Given the description of an element on the screen output the (x, y) to click on. 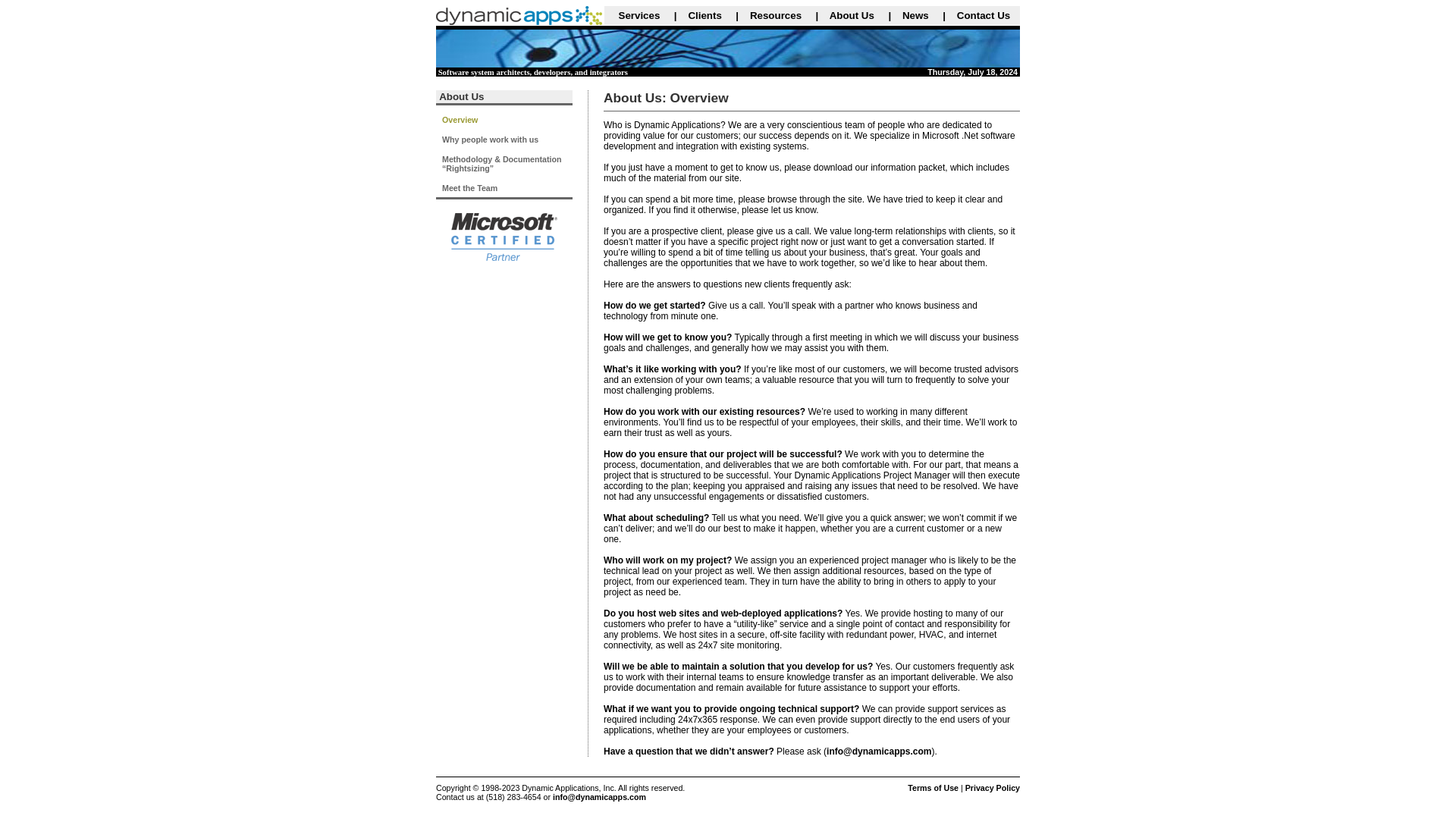
Privacy Policy (992, 787)
Contact Us (983, 15)
Meet the Team (469, 187)
News (915, 15)
Terms of Use (932, 787)
Services (639, 15)
Why people work with us (490, 139)
Clients (703, 15)
About Us (852, 15)
Resources (775, 15)
